Given the description of an element on the screen output the (x, y) to click on. 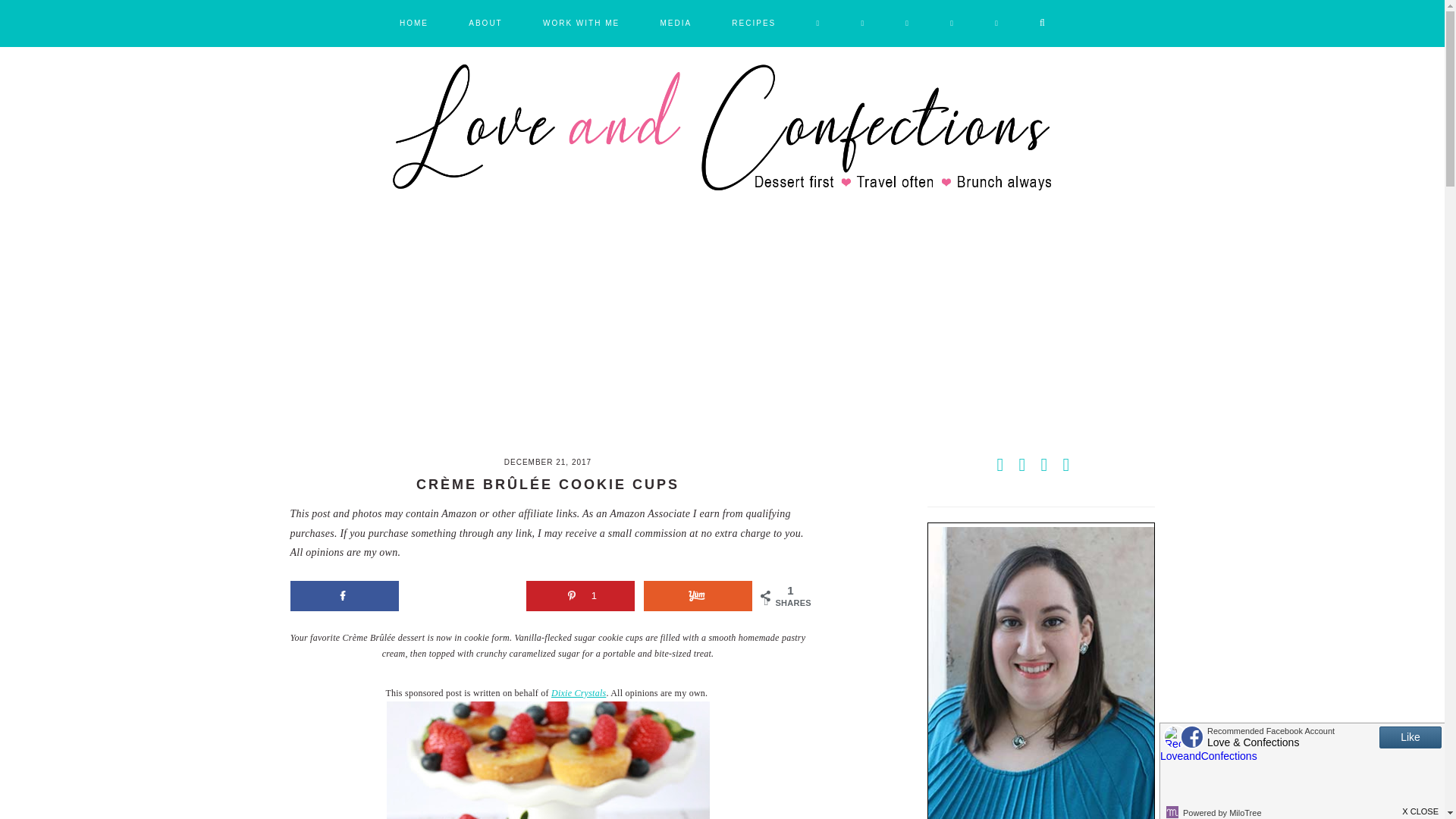
RECIPES (753, 23)
Share on X (461, 595)
1 (579, 595)
MEDIA (675, 23)
Save to Pinterest (579, 595)
HOME (413, 23)
Share on Facebook (343, 595)
ABOUT (485, 23)
